Given the description of an element on the screen output the (x, y) to click on. 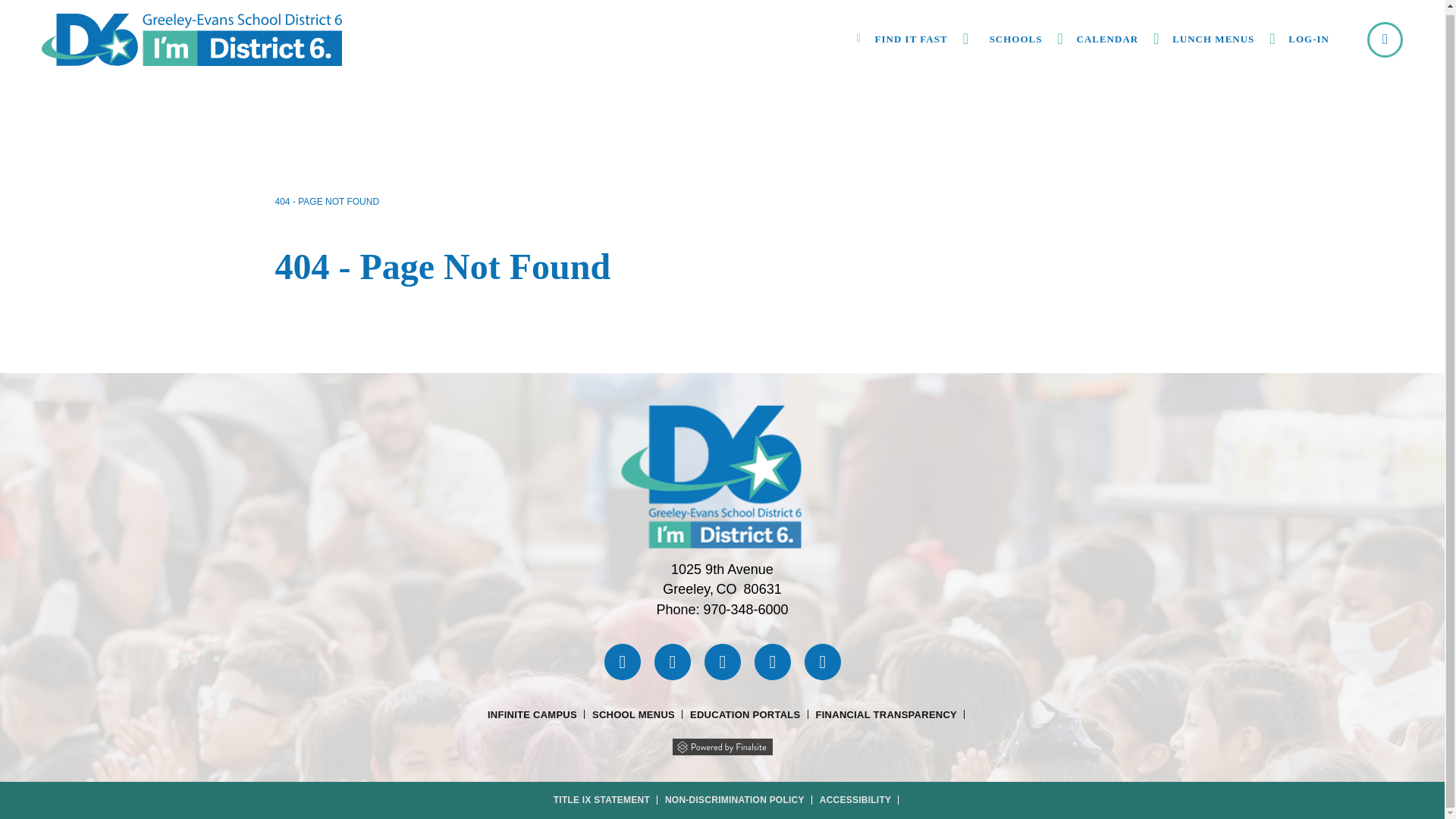
Powered by Finalsite opens in a new window (721, 744)
